Given the description of an element on the screen output the (x, y) to click on. 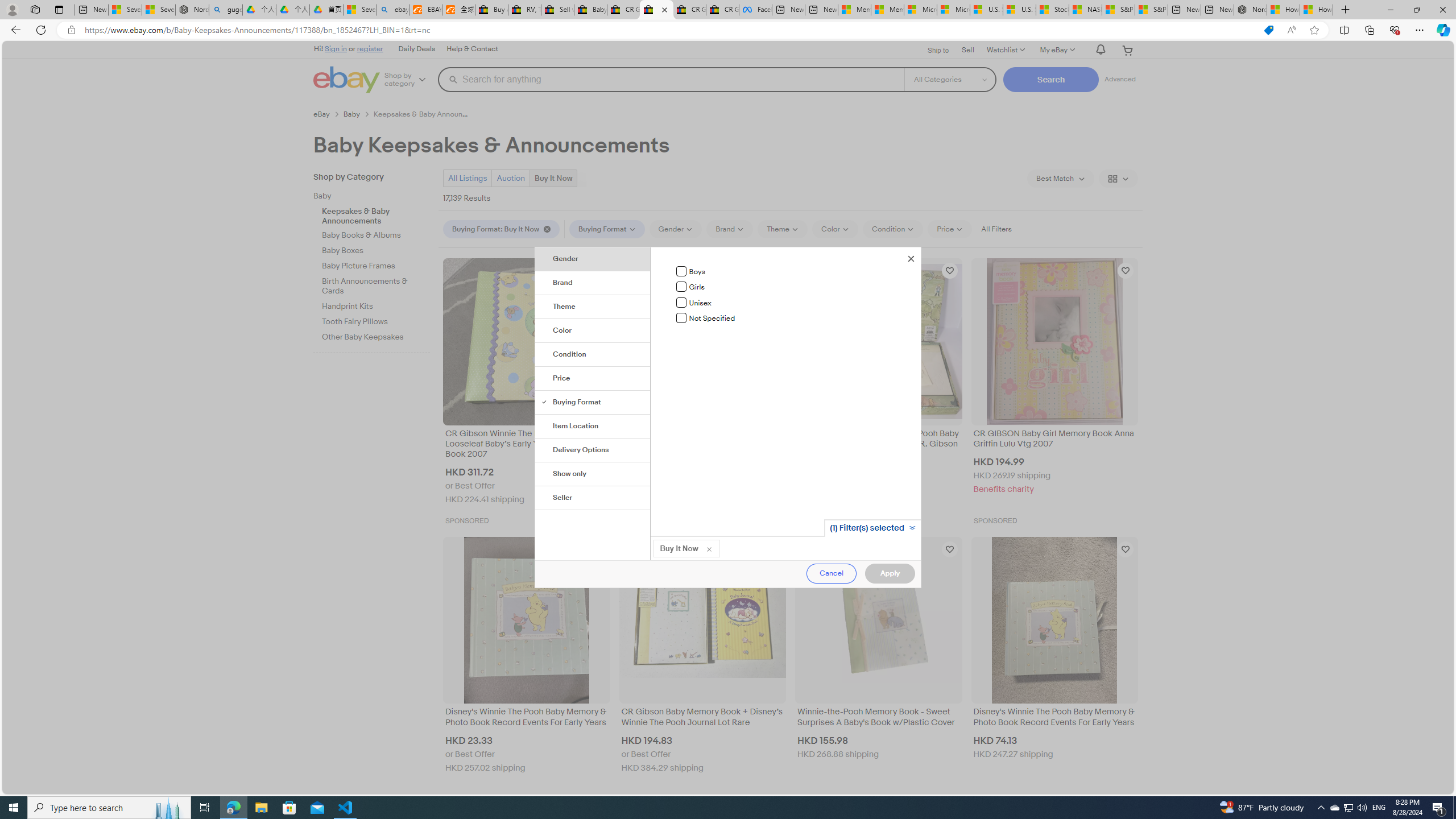
Gender (592, 259)
remove filter - Buy It Now (708, 548)
